Given the description of an element on the screen output the (x, y) to click on. 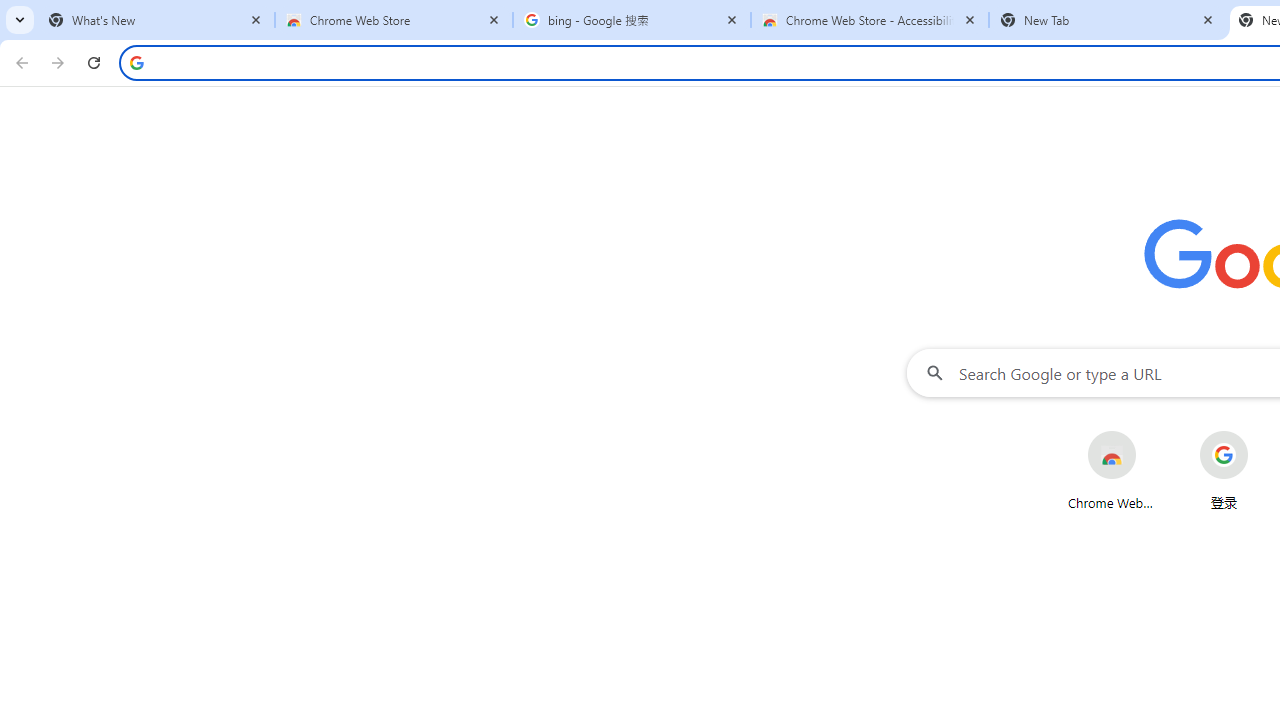
Chrome Web Store (1111, 470)
What's New (156, 20)
More actions for Chrome Web Store shortcut (1151, 433)
Chrome Web Store (394, 20)
Chrome Web Store - Accessibility (870, 20)
